Given the description of an element on the screen output the (x, y) to click on. 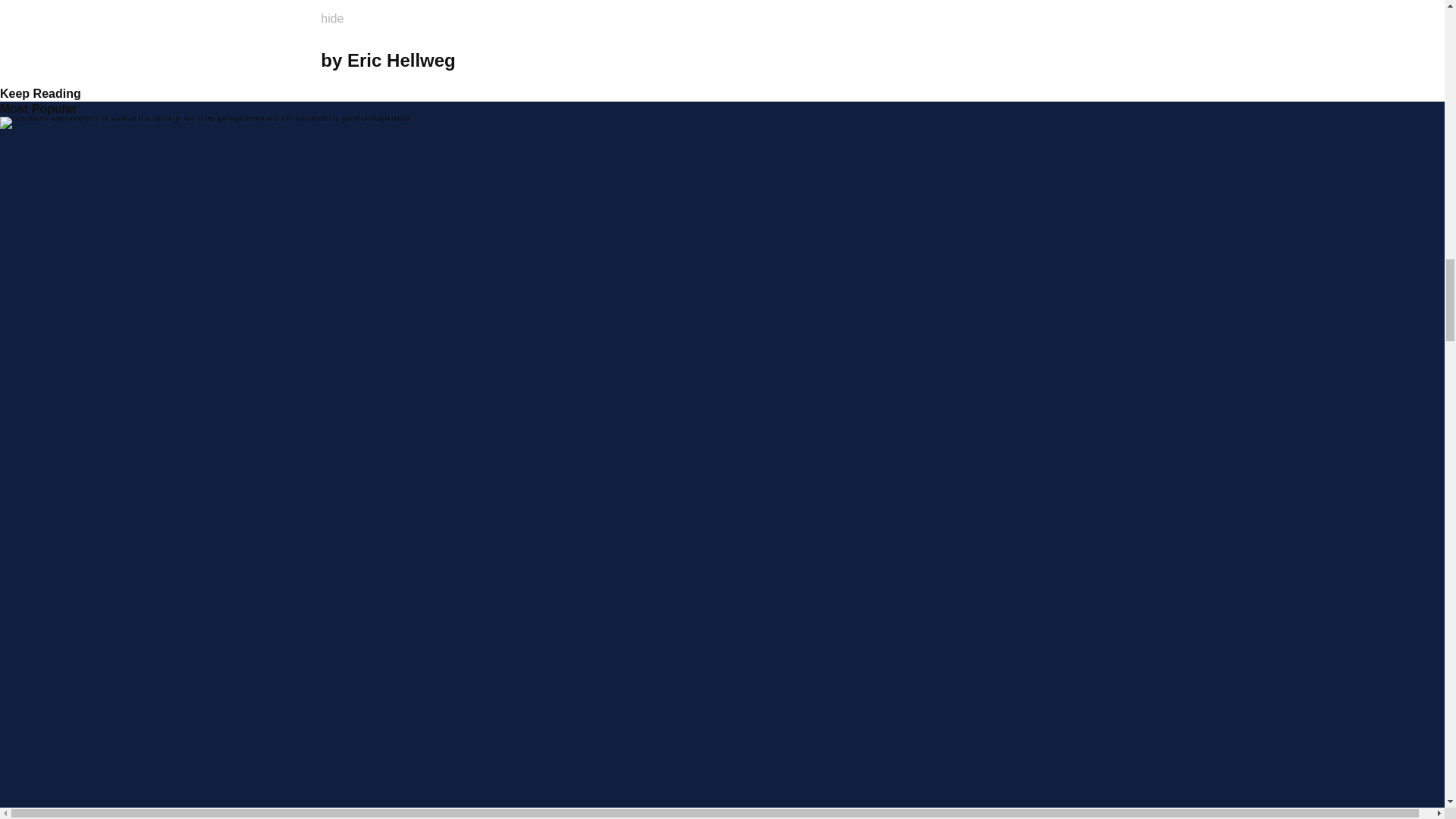
Share story on facebook (754, 60)
Share story on twitter (730, 60)
hide (341, 14)
Share story on linkedin (703, 60)
Share story on email (780, 60)
Eric Hellweg (401, 59)
